Given the description of an element on the screen output the (x, y) to click on. 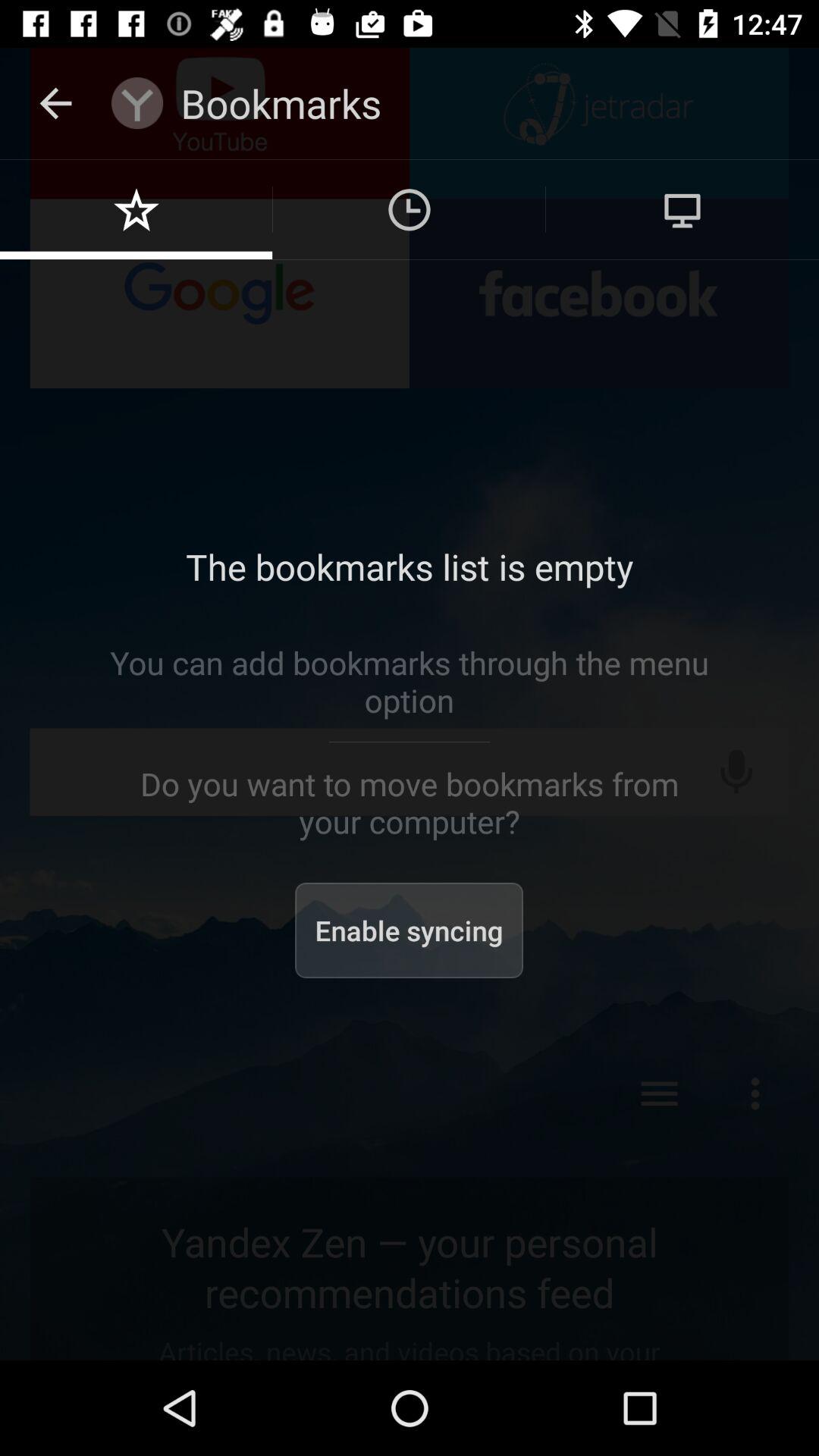
turn off item below the do you want icon (409, 930)
